Given the description of an element on the screen output the (x, y) to click on. 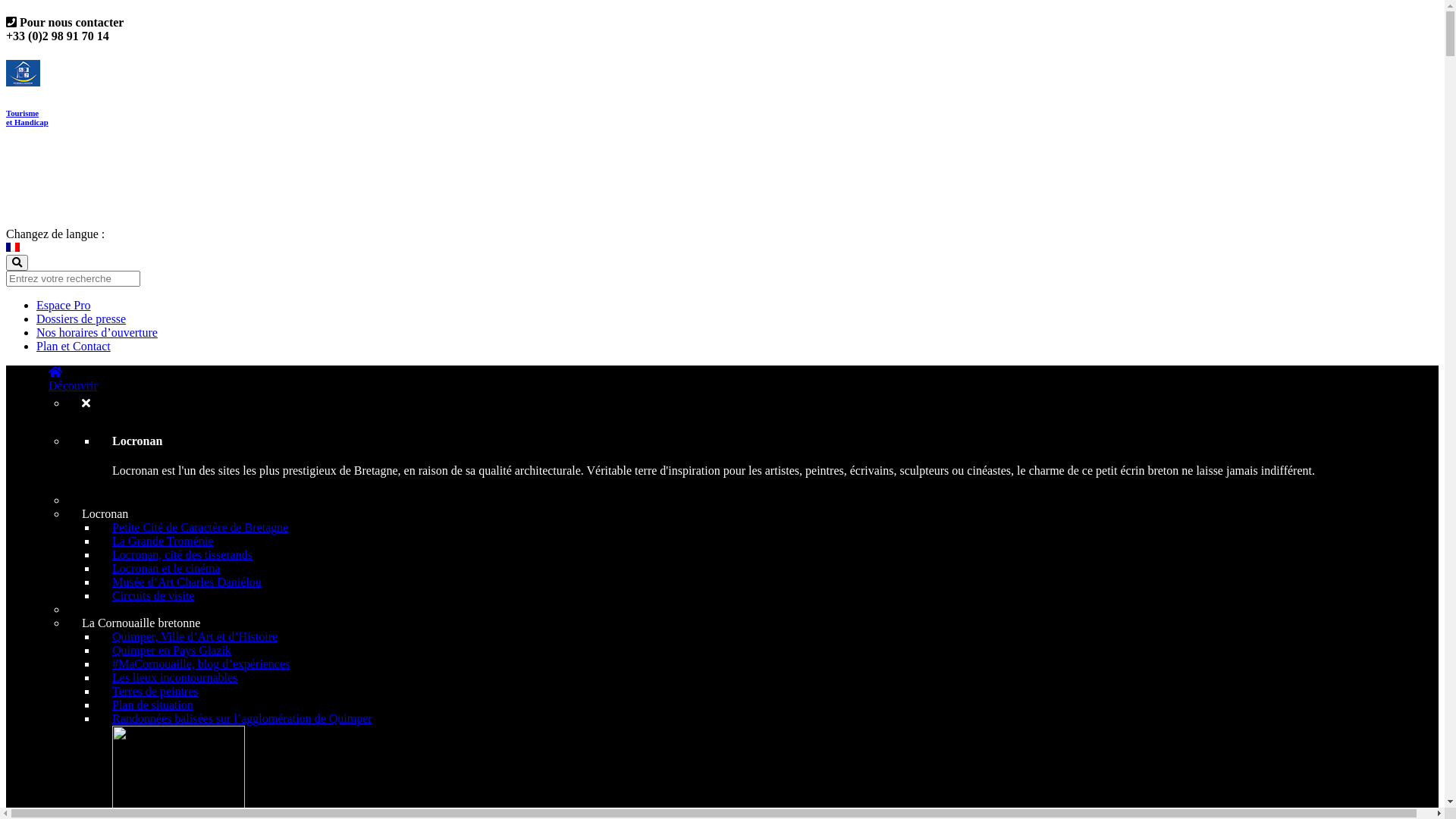
Espace Pro Element type: text (63, 304)
Dossiers de presse Element type: text (80, 318)
Les lieux incontournables Element type: text (174, 677)
Tourisme
et Handicap Element type: text (722, 100)
Plan de situation Element type: text (152, 704)
Quimper en Pays Glazik Element type: text (171, 650)
Circuits de visite Element type: text (153, 595)
Plan et Contact Element type: text (73, 345)
Terres de peintres Element type: text (155, 690)
